Given the description of an element on the screen output the (x, y) to click on. 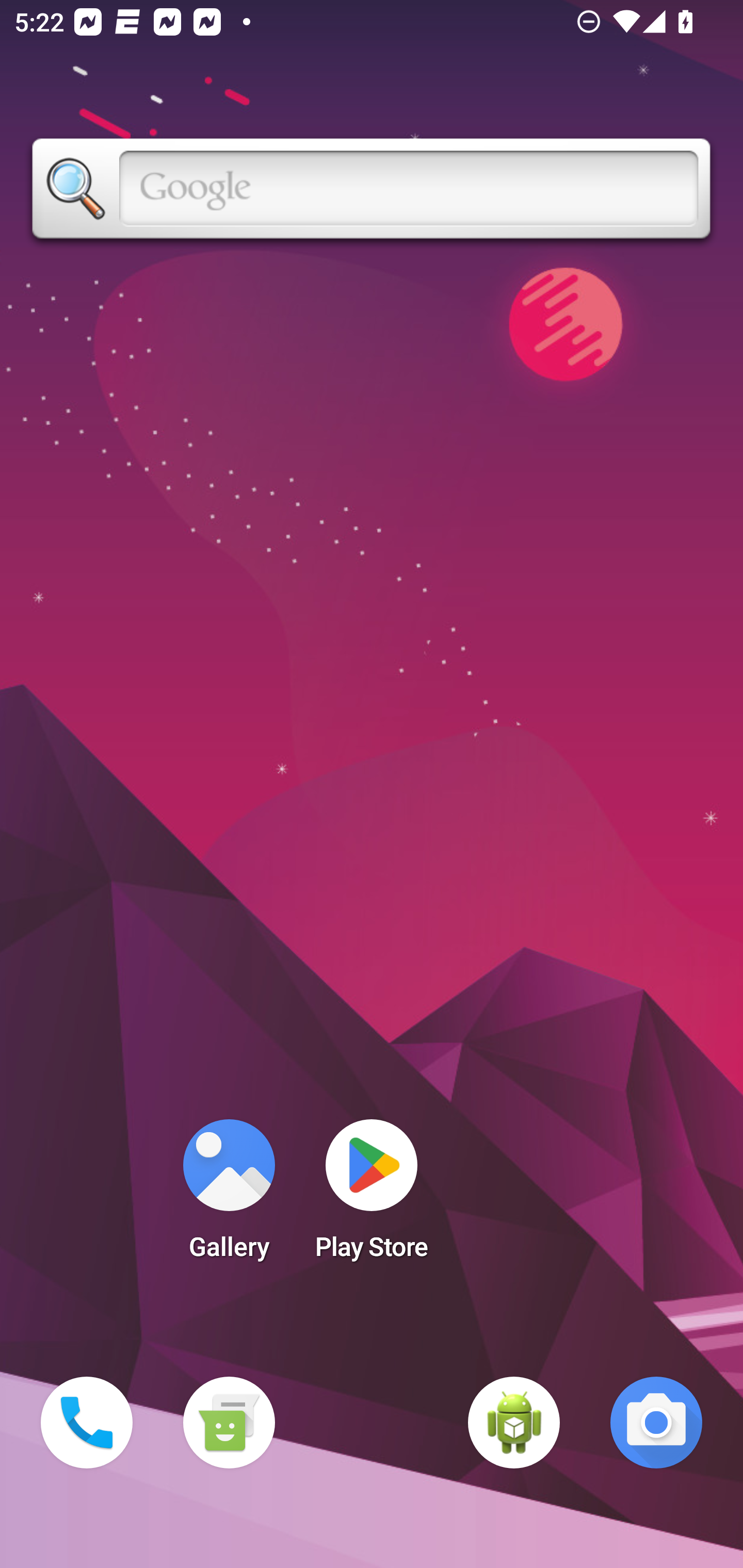
Gallery (228, 1195)
Play Store (371, 1195)
Phone (86, 1422)
Messaging (228, 1422)
WebView Browser Tester (513, 1422)
Camera (656, 1422)
